Given the description of an element on the screen output the (x, y) to click on. 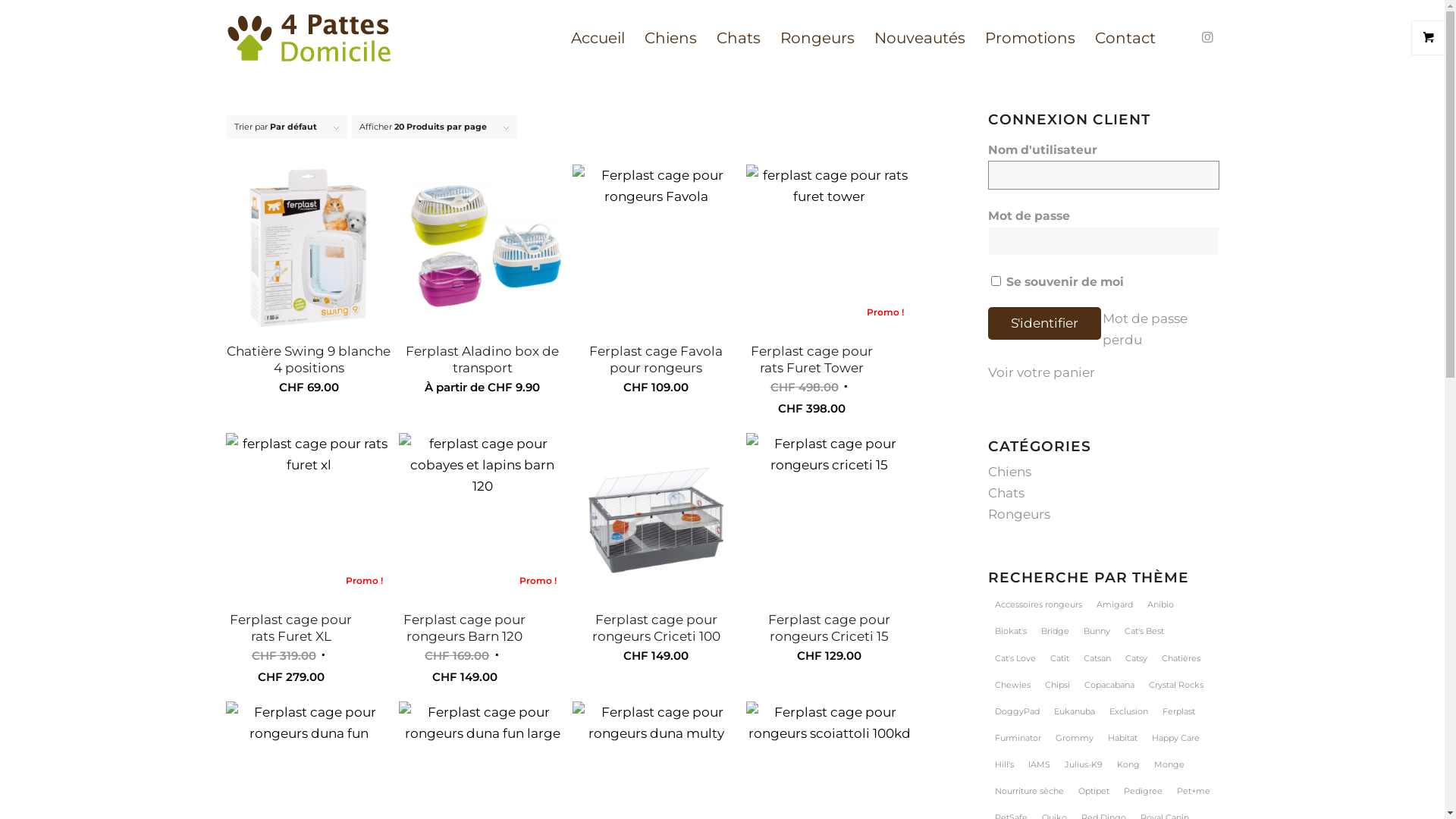
Crystal Rocks Element type: text (1176, 684)
Ferplast cage Favola pour rongeurs
CHF 109.00 Element type: text (655, 284)
Promotions Element type: text (1030, 37)
Cat's Love Element type: text (1015, 658)
S'identifier Element type: text (1044, 323)
Optipet Element type: text (1093, 790)
Catit Element type: text (1059, 658)
Bunny Element type: text (1096, 630)
Grommy Element type: text (1074, 737)
DoggyPad Element type: text (1017, 711)
Furminator Element type: text (1018, 737)
Happy Care Element type: text (1175, 737)
Chiens Element type: text (669, 37)
Chiens Element type: text (1009, 471)
Bridge Element type: text (1055, 630)
Mot de passe perdu Element type: text (1144, 328)
Ferplast cage pour rongeurs Criceti 100
CHF 149.00 Element type: text (655, 553)
Biokat's Element type: text (1010, 630)
Contact Element type: text (1124, 37)
Accueil Element type: text (597, 37)
Hill's Element type: text (1004, 764)
Cat's Best Element type: text (1143, 630)
Chats Element type: text (738, 37)
IAMS Element type: text (1039, 764)
Instagram Element type: hover (1207, 36)
Anibio Element type: text (1160, 604)
Eukanuba Element type: text (1074, 711)
Amigard Element type: text (1114, 604)
Rongeurs Element type: text (817, 37)
Ferplast cage pour rongeurs Criceti 15
CHF 129.00 Element type: text (829, 553)
Chats Element type: text (1006, 492)
Julius-K9 Element type: text (1083, 764)
Copacabana Element type: text (1109, 684)
Habitat Element type: text (1122, 737)
Monge Element type: text (1169, 764)
Pedigree Element type: text (1143, 790)
Ferplast Element type: text (1178, 711)
Chipsi Element type: text (1057, 684)
Voir votre panier Element type: text (1041, 371)
Catsan Element type: text (1096, 658)
Kong Element type: text (1128, 764)
Chewies Element type: text (1012, 684)
Catsy Element type: text (1136, 658)
Exclusion Element type: text (1128, 711)
Pet+me Element type: text (1193, 790)
Accessoires rongeurs Element type: text (1038, 604)
Rongeurs Element type: text (1019, 513)
